Given the description of an element on the screen output the (x, y) to click on. 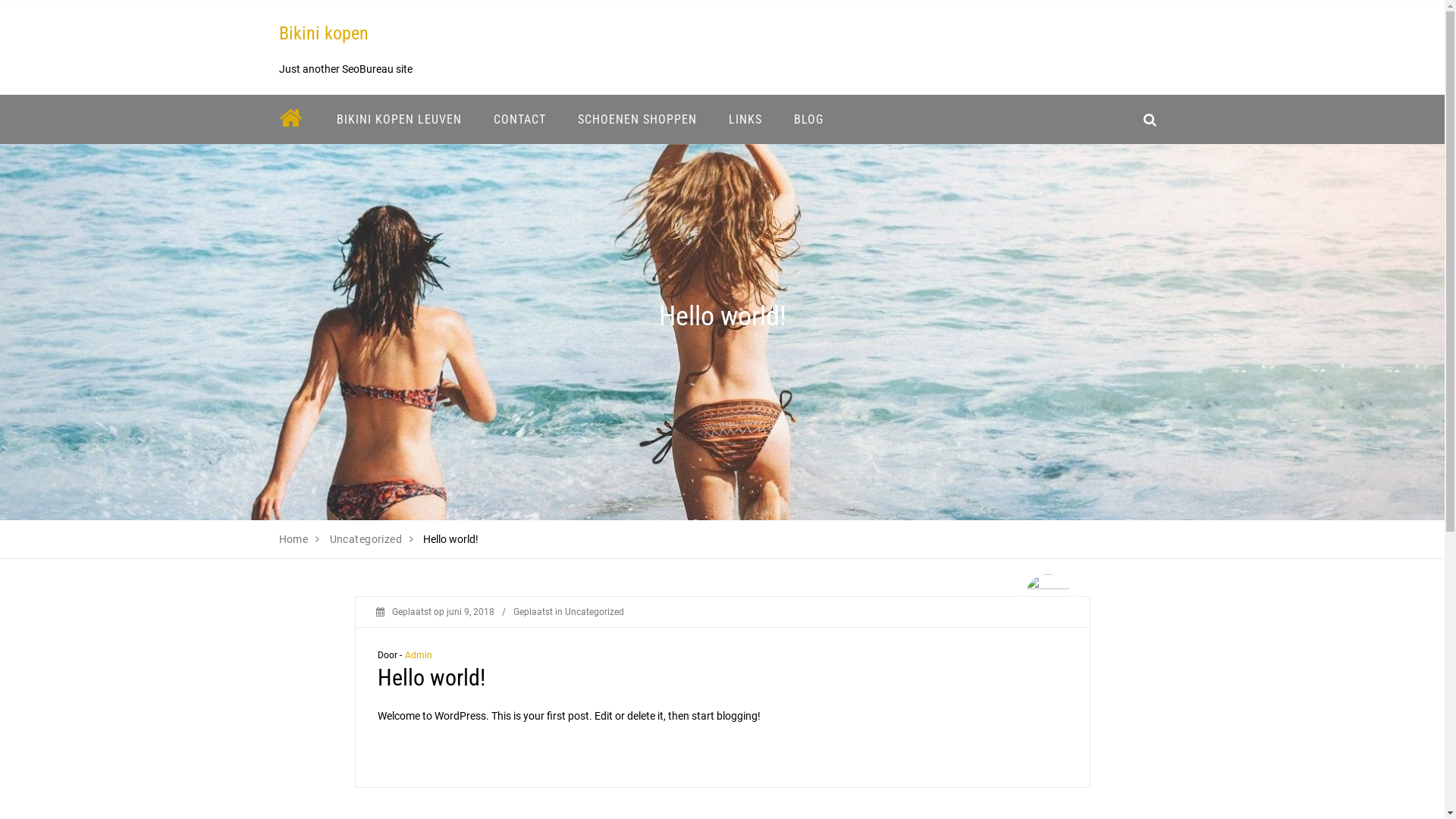
Uncategorized Element type: text (593, 611)
LINKS Element type: text (744, 119)
search_icon Element type: hover (1148, 119)
Home Element type: text (293, 539)
BLOG Element type: text (808, 119)
BIKINI KOPEN LEUVEN Element type: text (398, 119)
CONTACT Element type: text (519, 119)
Bikini kopen Element type: text (323, 32)
SCHOENEN SHOPPEN Element type: text (636, 119)
Uncategorized Element type: text (365, 539)
Admin Element type: text (418, 654)
